Given the description of an element on the screen output the (x, y) to click on. 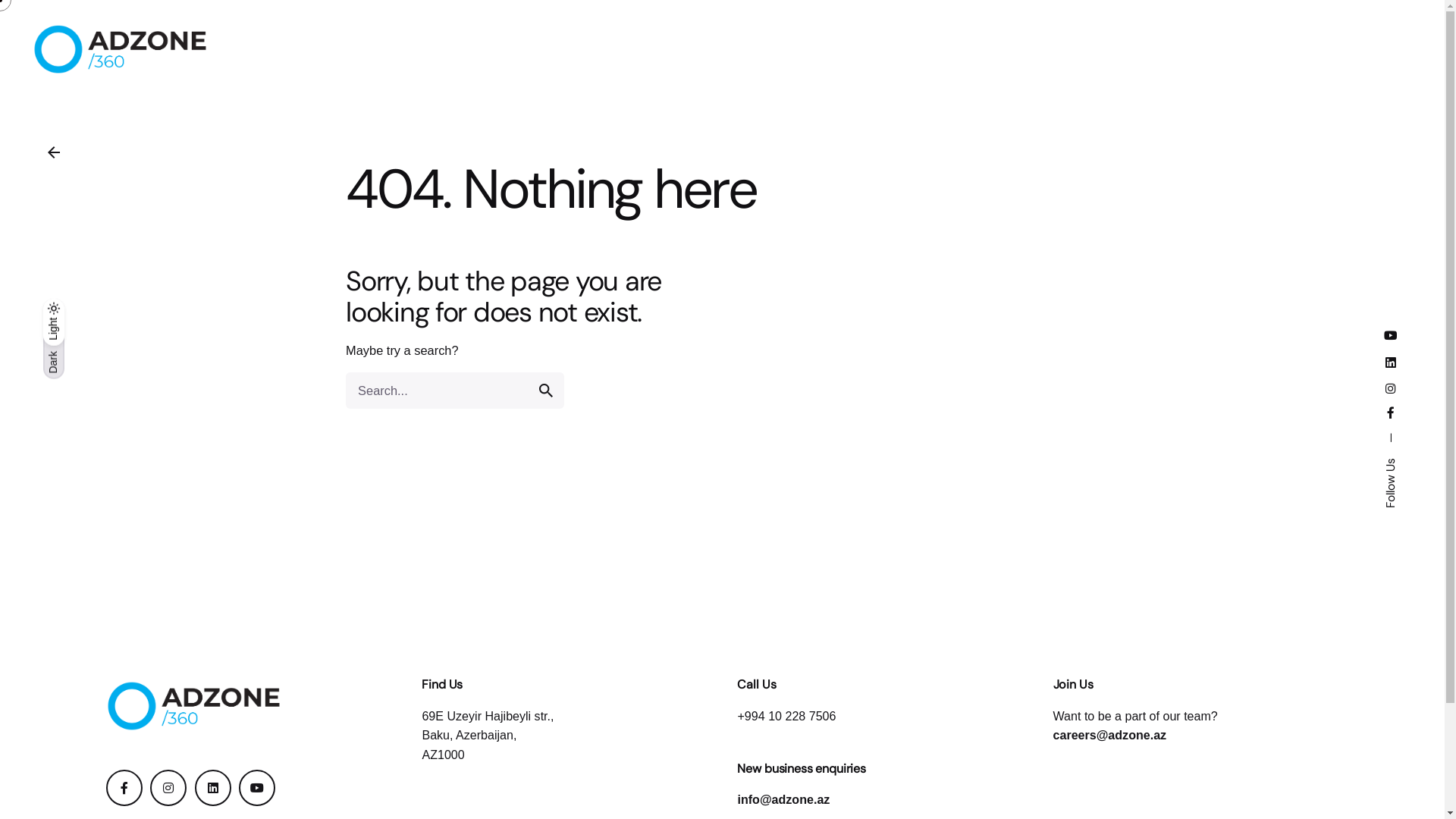
info@adzone.az Element type: text (783, 799)
careers@adzone.az Element type: text (1110, 734)
